Given the description of an element on the screen output the (x, y) to click on. 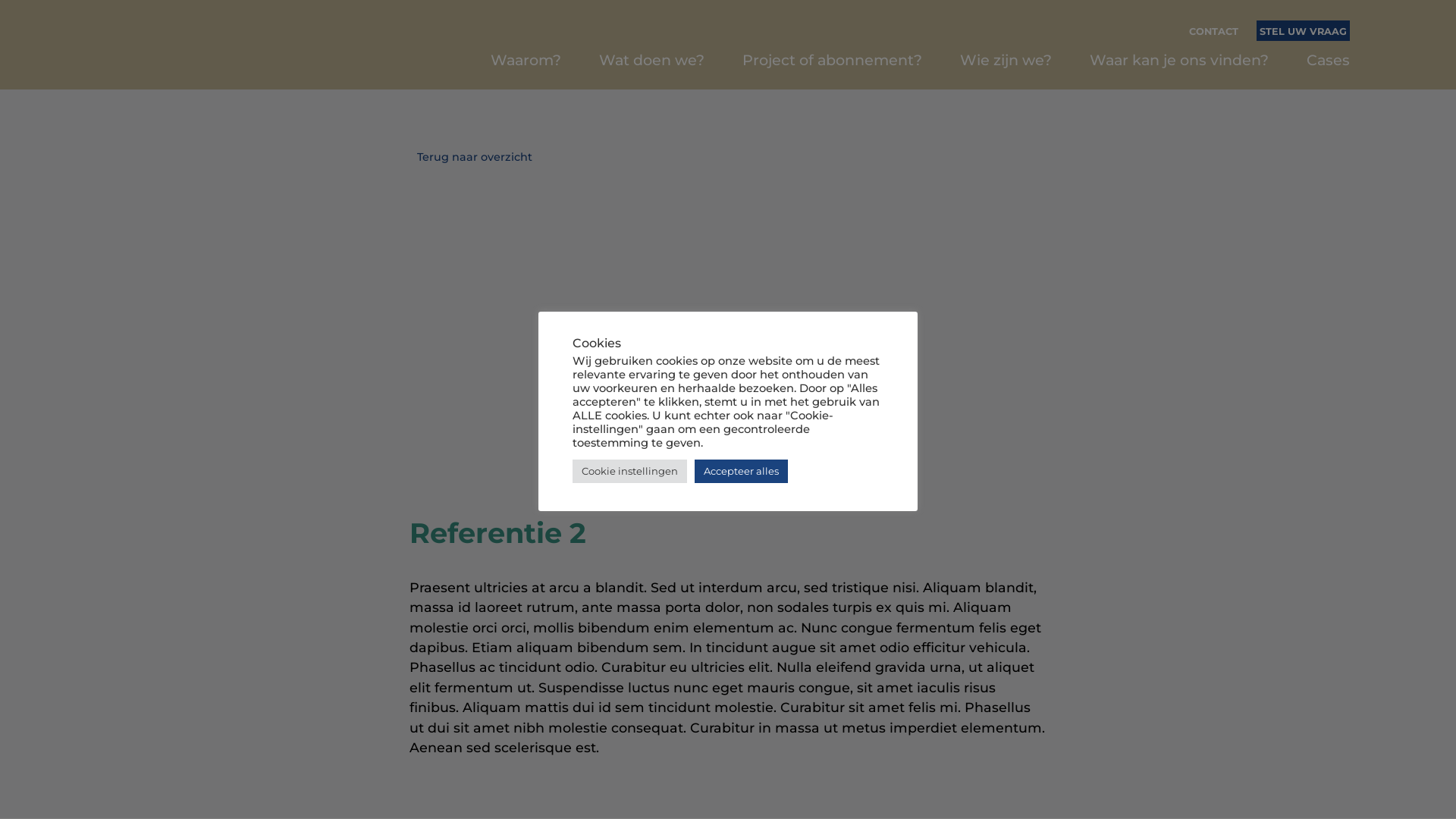
Project of abonnement? Element type: text (832, 69)
Waarom? Element type: text (525, 69)
Terug naar overzicht Element type: text (727, 156)
Cases Element type: text (1327, 69)
Accepteer alles Element type: text (740, 471)
Wie zijn we? Element type: text (1005, 69)
CONTACT Element type: text (1213, 39)
Cookie instellingen Element type: text (629, 471)
Wat doen we? Element type: text (651, 69)
Waar kan je ons vinden? Element type: text (1178, 69)
STEL UW VRAAG Element type: text (1302, 39)
